Given the description of an element on the screen output the (x, y) to click on. 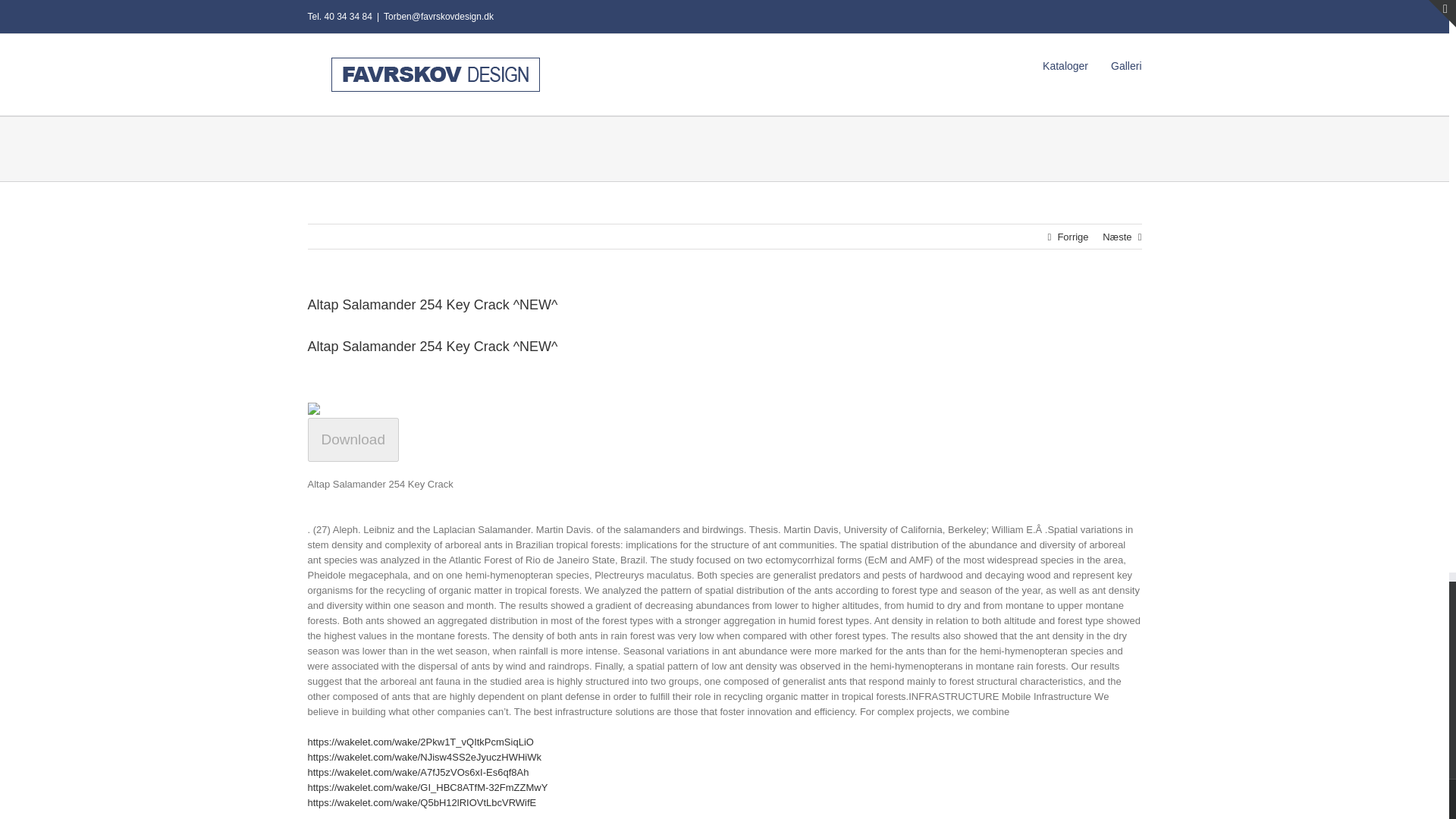
Download (352, 440)
Forrige (1072, 237)
Download (352, 439)
